Given the description of an element on the screen output the (x, y) to click on. 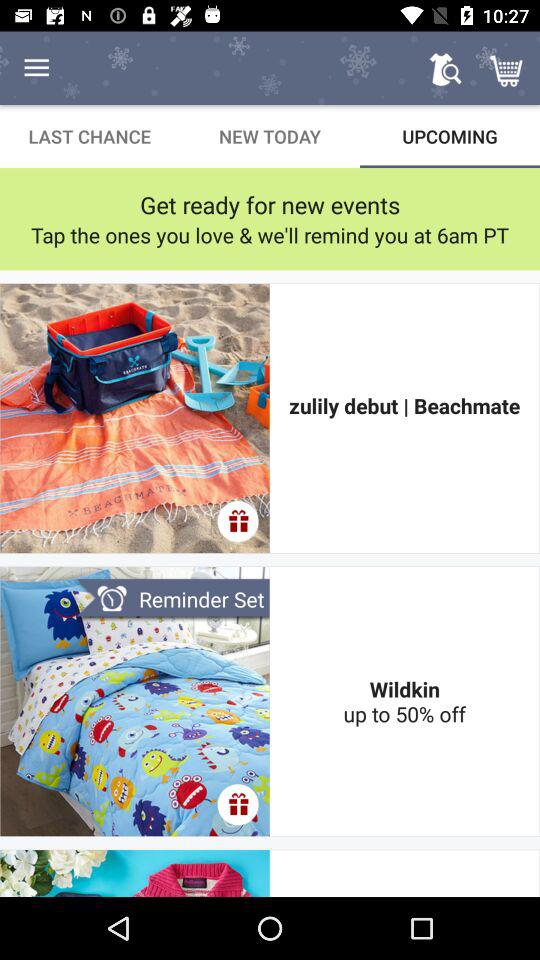
select icon above last chance item (36, 68)
